Given the description of an element on the screen output the (x, y) to click on. 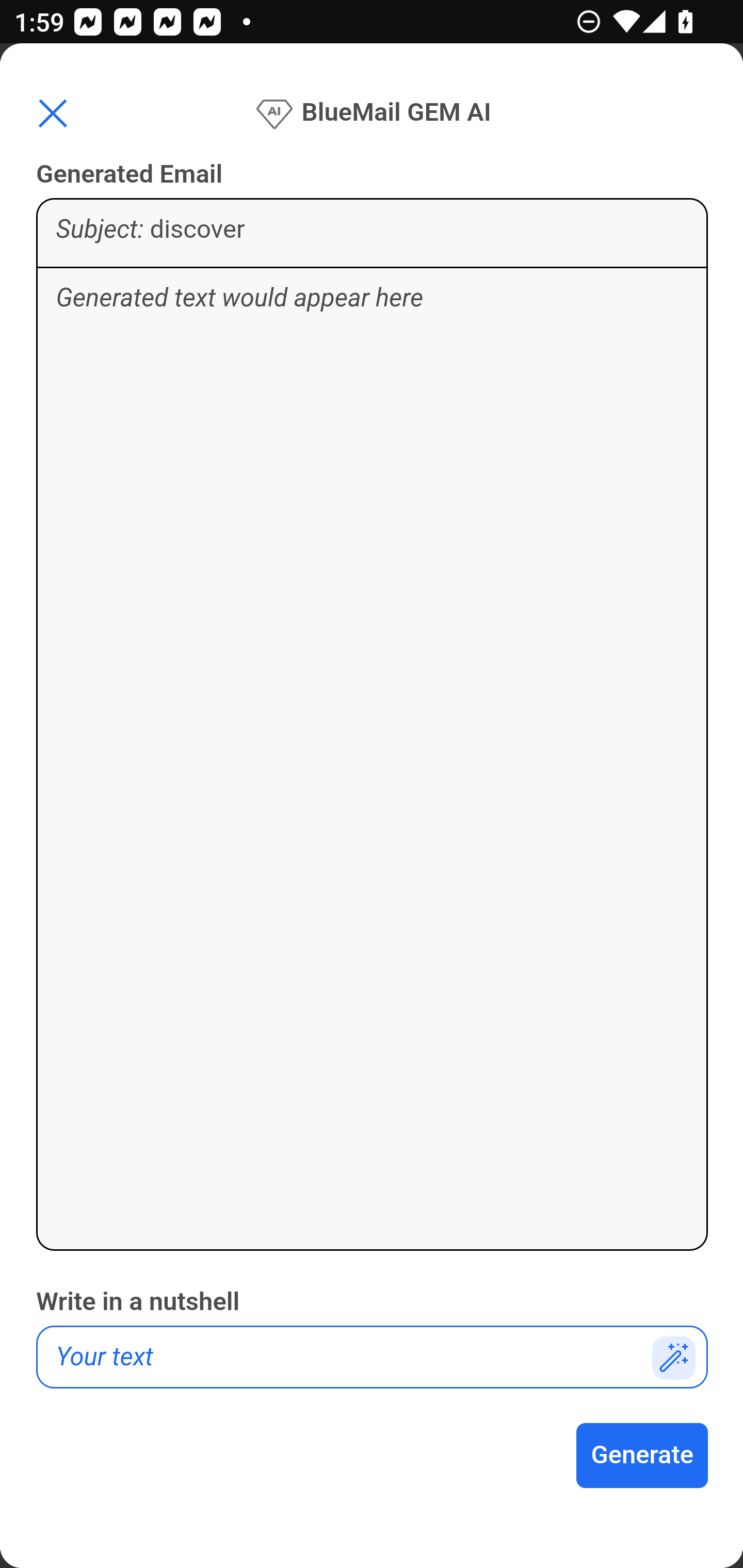
Generate (642, 1455)
